Given the description of an element on the screen output the (x, y) to click on. 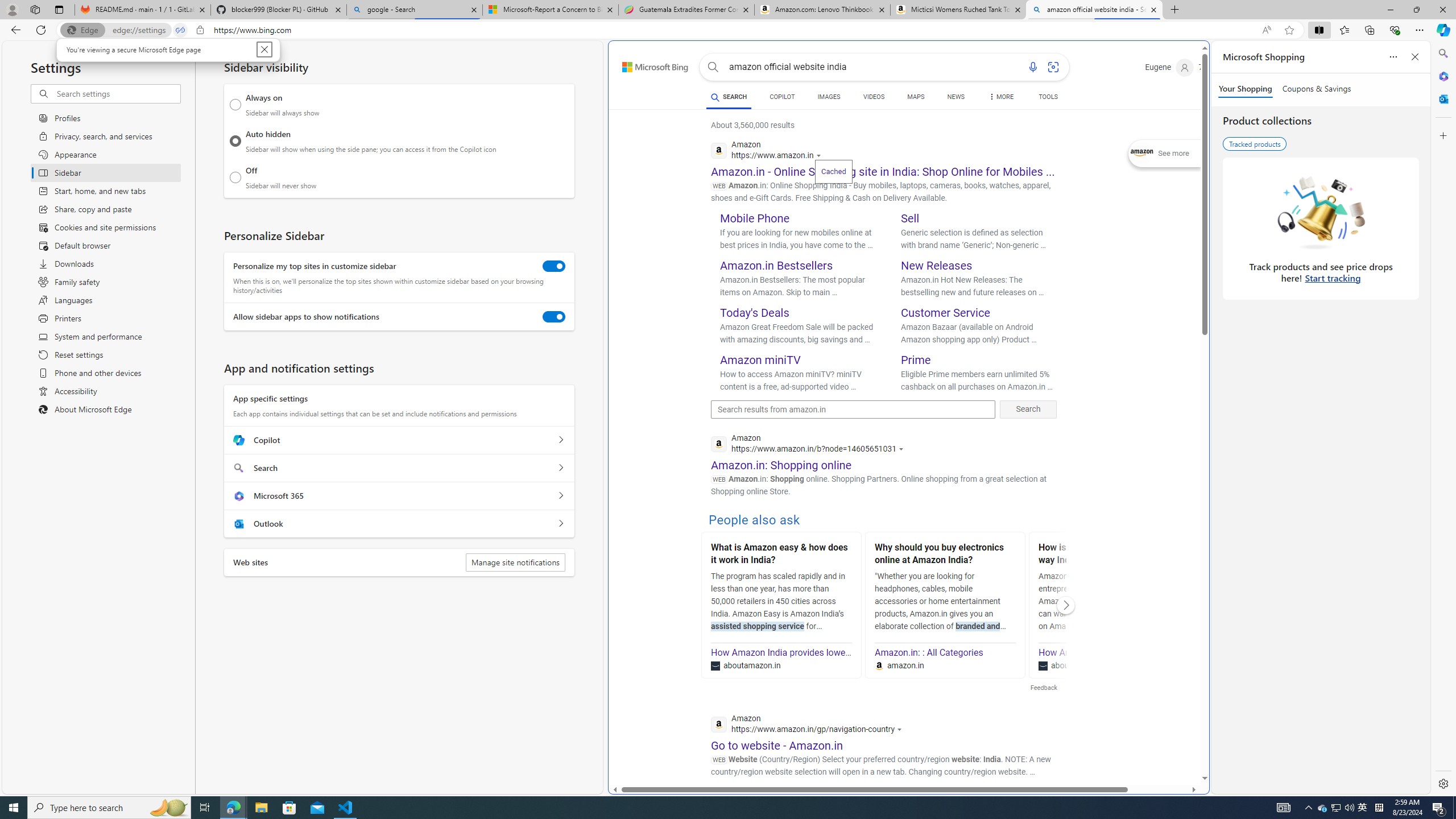
Search using an image (1052, 66)
SEARCH (1362, 807)
Dropdown Menu (728, 96)
Expand See more (1000, 96)
How is Amazon easy changing the way India buys? (1164, 153)
Running applications (1108, 555)
New Releases (700, 807)
